Given the description of an element on the screen output the (x, y) to click on. 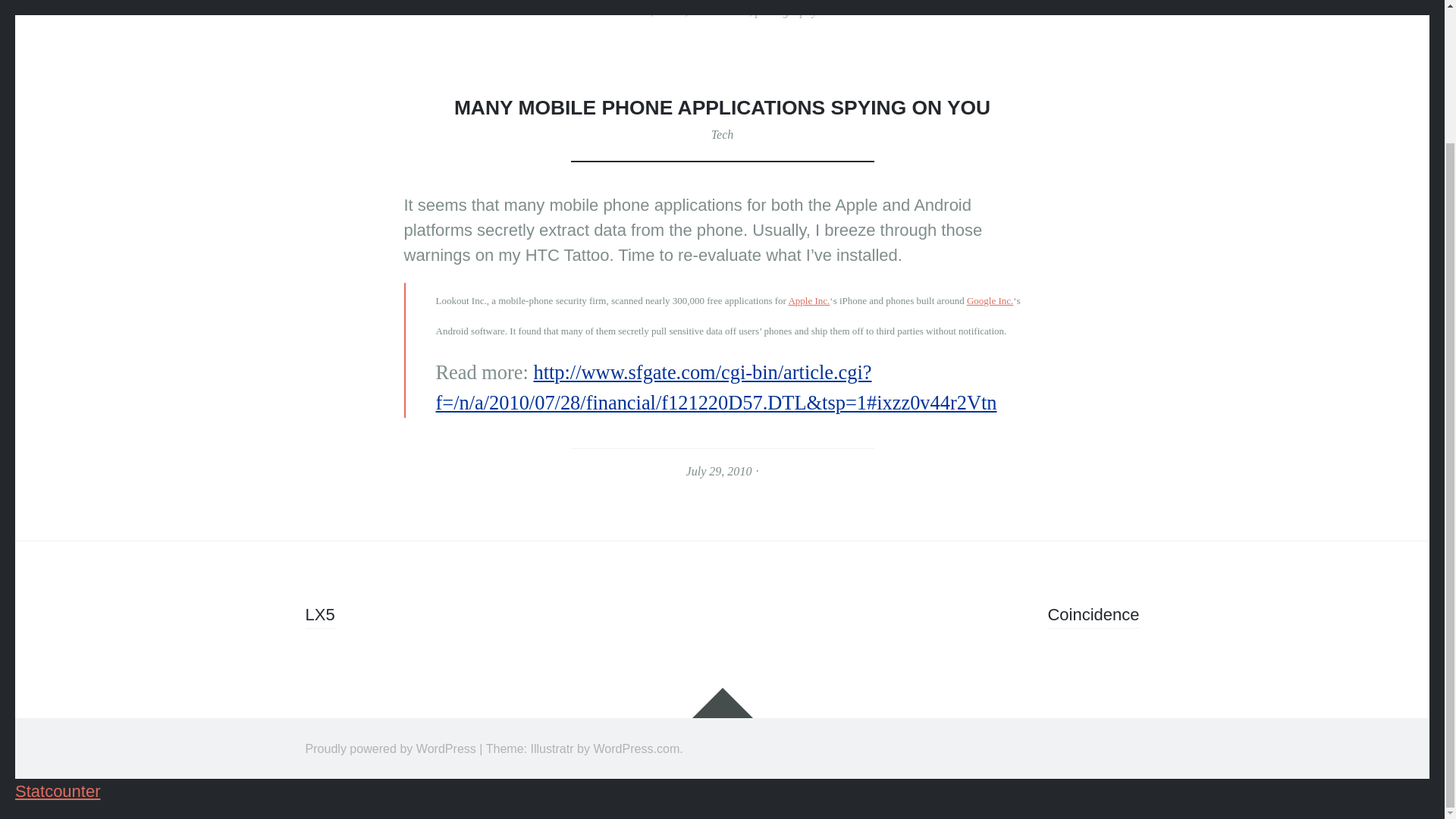
Coincidence (1092, 616)
Widgets (721, 702)
July 29, 2010 (718, 471)
Tech (722, 133)
LX5 (319, 616)
Apple Inc. (808, 300)
Google Inc. (989, 300)
